Given the description of an element on the screen output the (x, y) to click on. 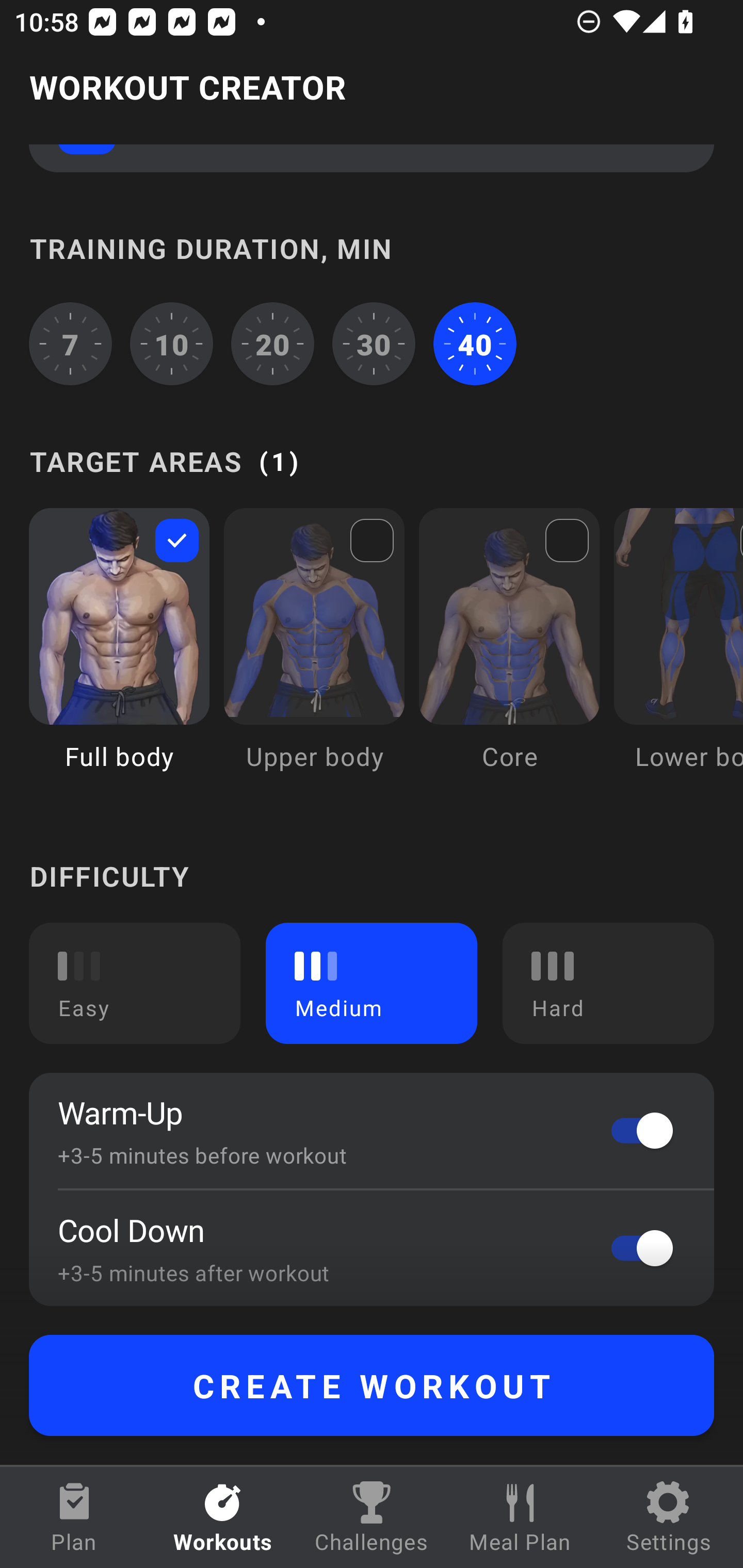
7 (70, 344)
10 (171, 344)
20 (272, 344)
30 (373, 344)
40 (474, 344)
Upper body (313, 653)
Core (509, 653)
Lower body (678, 653)
Easy (134, 982)
Hard (608, 982)
CREATE WORKOUT (371, 1385)
 Plan  (74, 1517)
 Challenges  (371, 1517)
 Meal Plan  (519, 1517)
 Settings  (668, 1517)
